Given the description of an element on the screen output the (x, y) to click on. 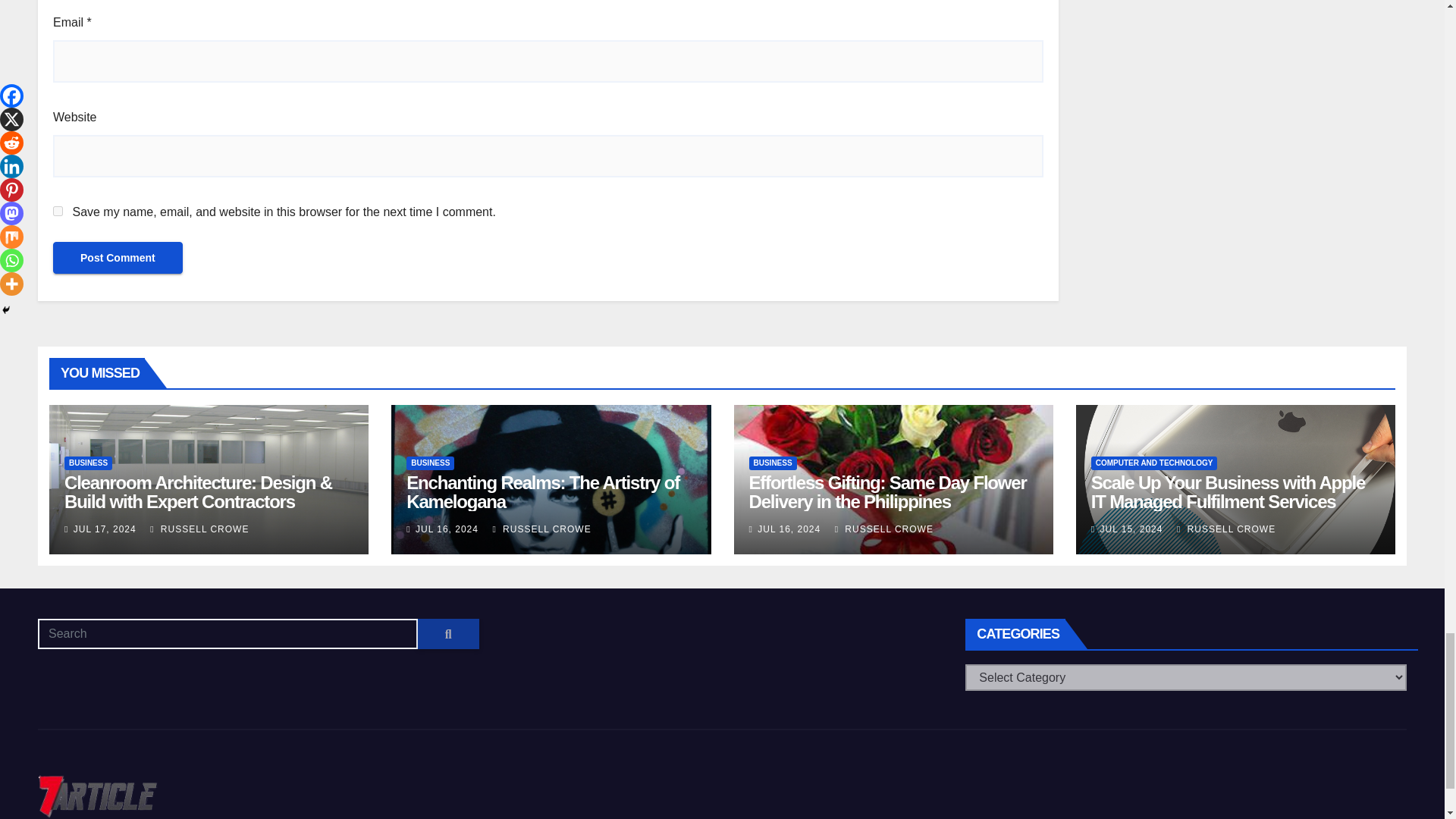
Post Comment (117, 257)
yes (57, 211)
